Given the description of an element on the screen output the (x, y) to click on. 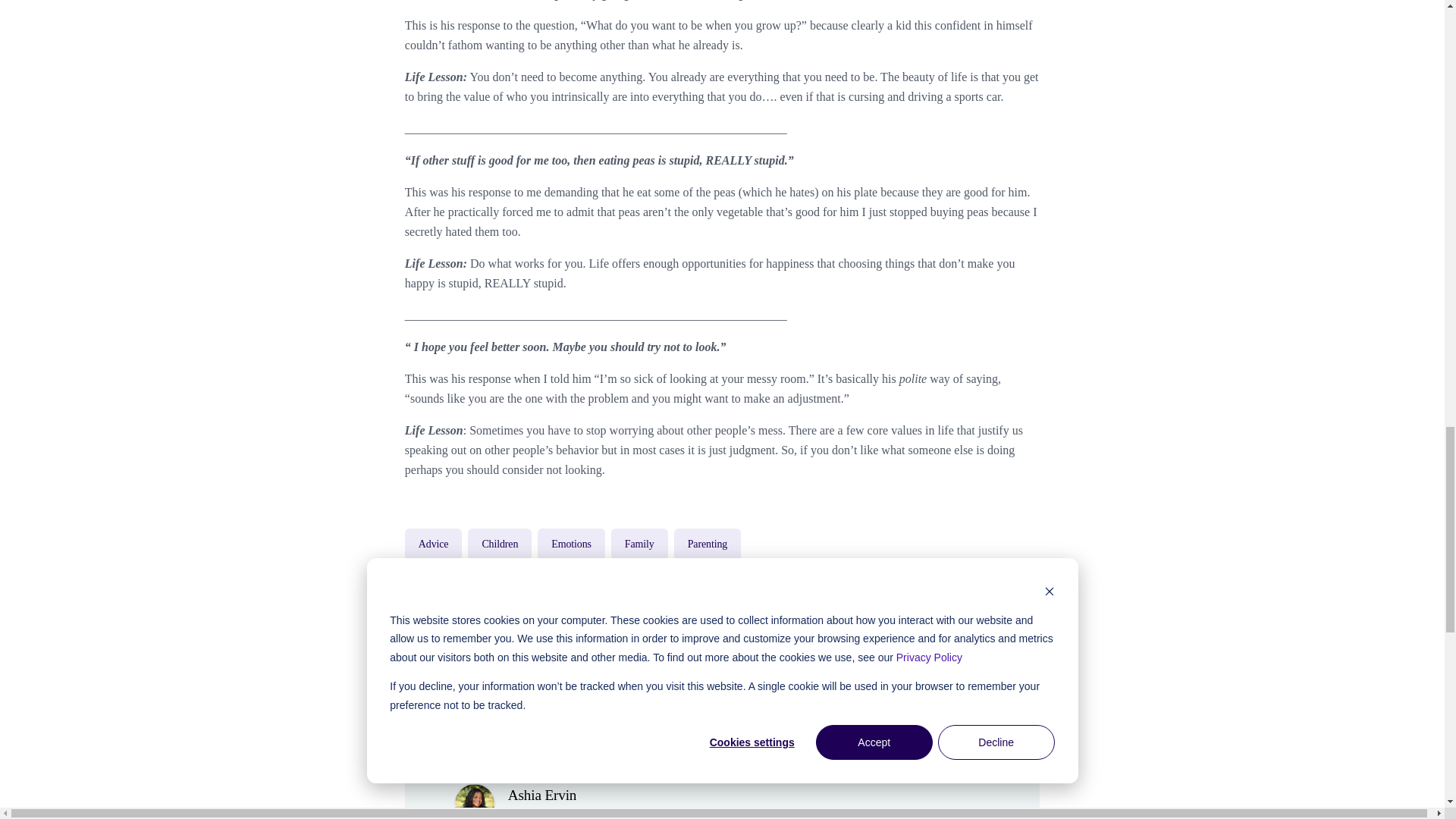
Twitter (965, 664)
Ashia Ervin (542, 795)
Facebook (925, 664)
LinkedIn (1005, 664)
